Given the description of an element on the screen output the (x, y) to click on. 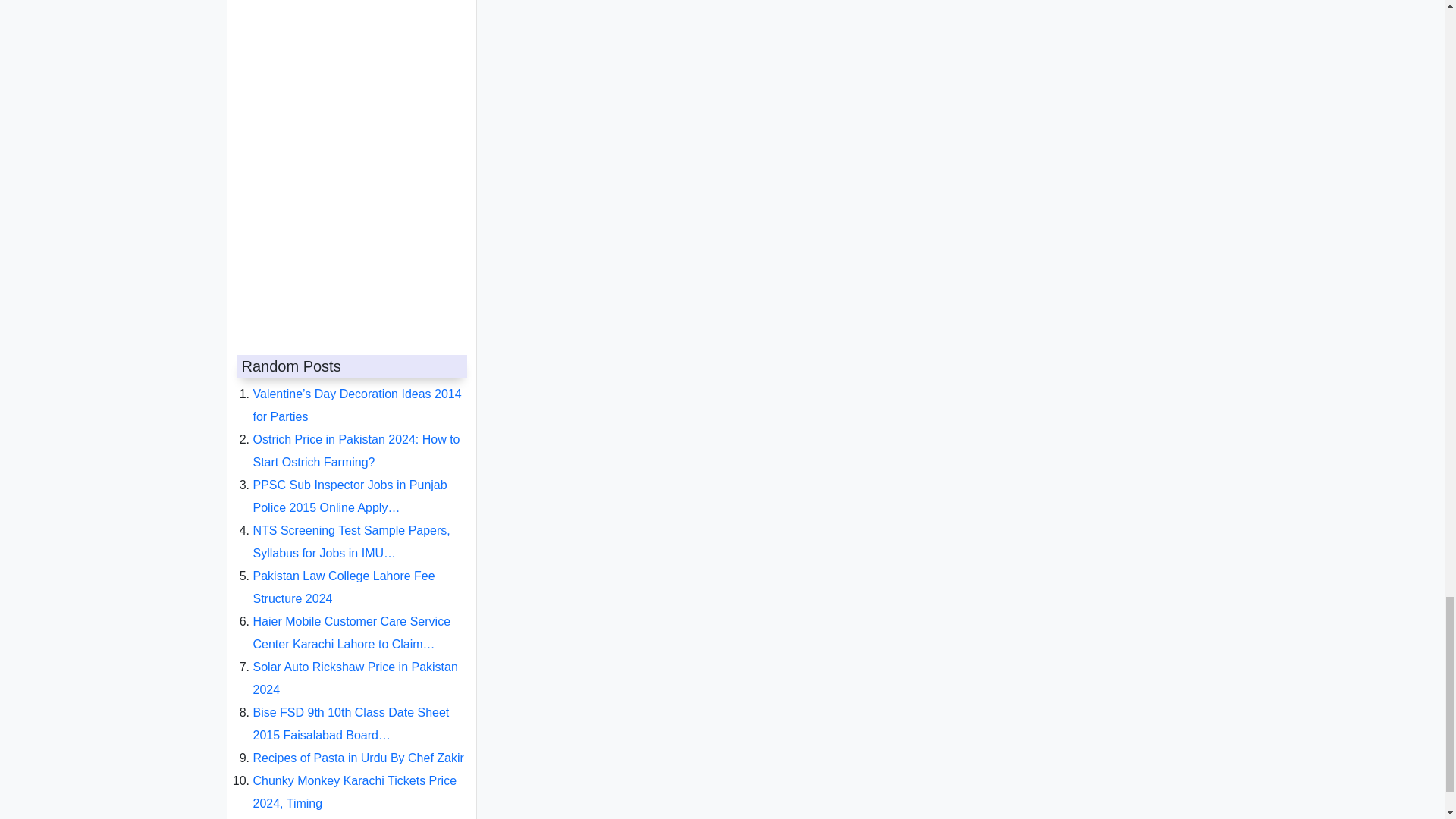
Pakistan Law College Lahore Fee Structure 2024 (344, 574)
Solar Auto Rickshaw Price in Pakistan 2024 (355, 665)
Recipes of Pasta in Urdu By Chef Zakir (358, 745)
Chunky Monkey Karachi Tickets Price 2024, Timing (355, 779)
